Given the description of an element on the screen output the (x, y) to click on. 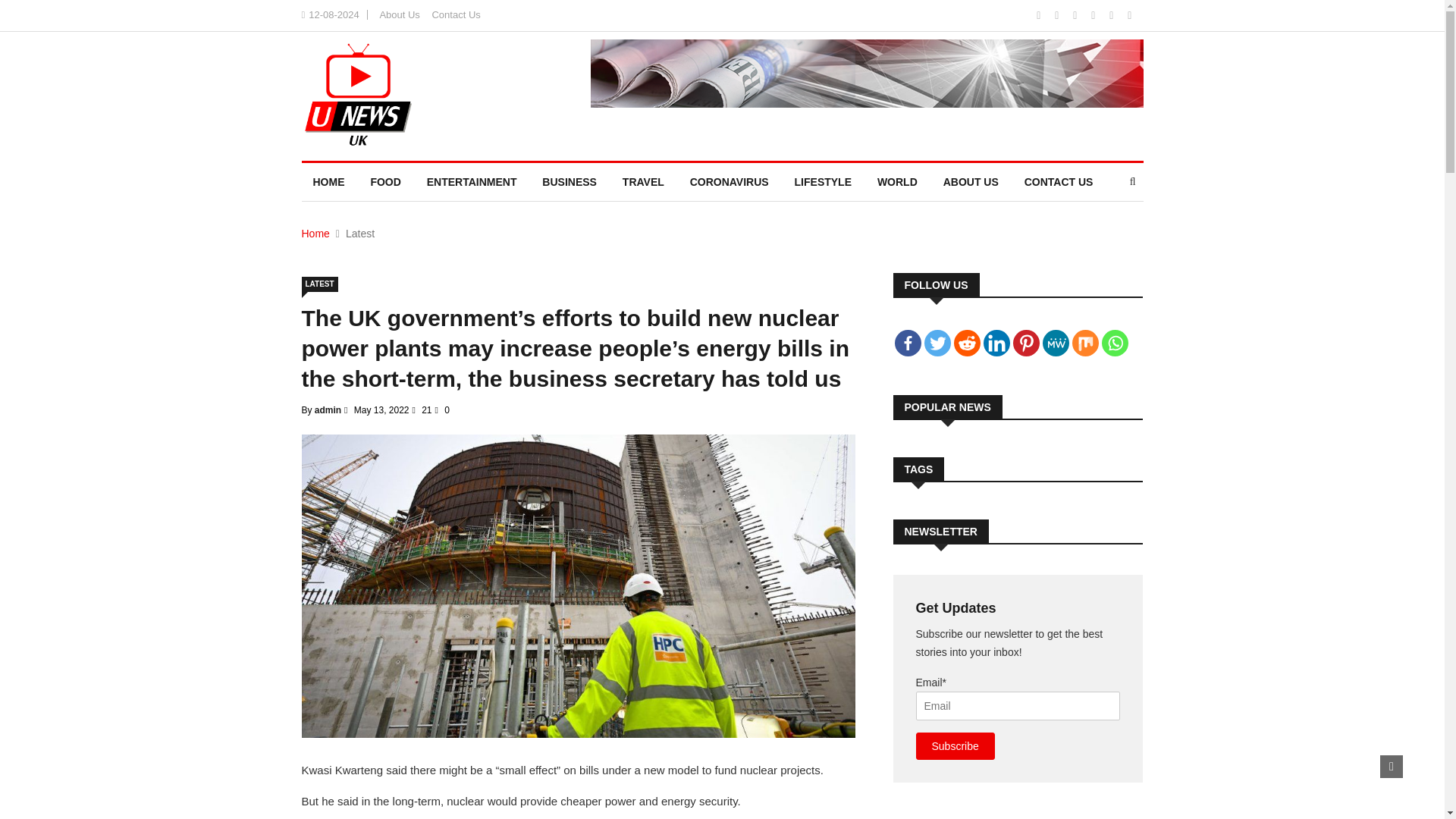
HOME (328, 181)
Linkedin (995, 343)
FOOD (385, 181)
TRAVEL (643, 181)
ENTERTAINMENT (471, 181)
CONTACT US (1059, 181)
Contact Us (455, 14)
admin (327, 409)
MeWe (1055, 343)
WORLD (897, 181)
